Given the description of an element on the screen output the (x, y) to click on. 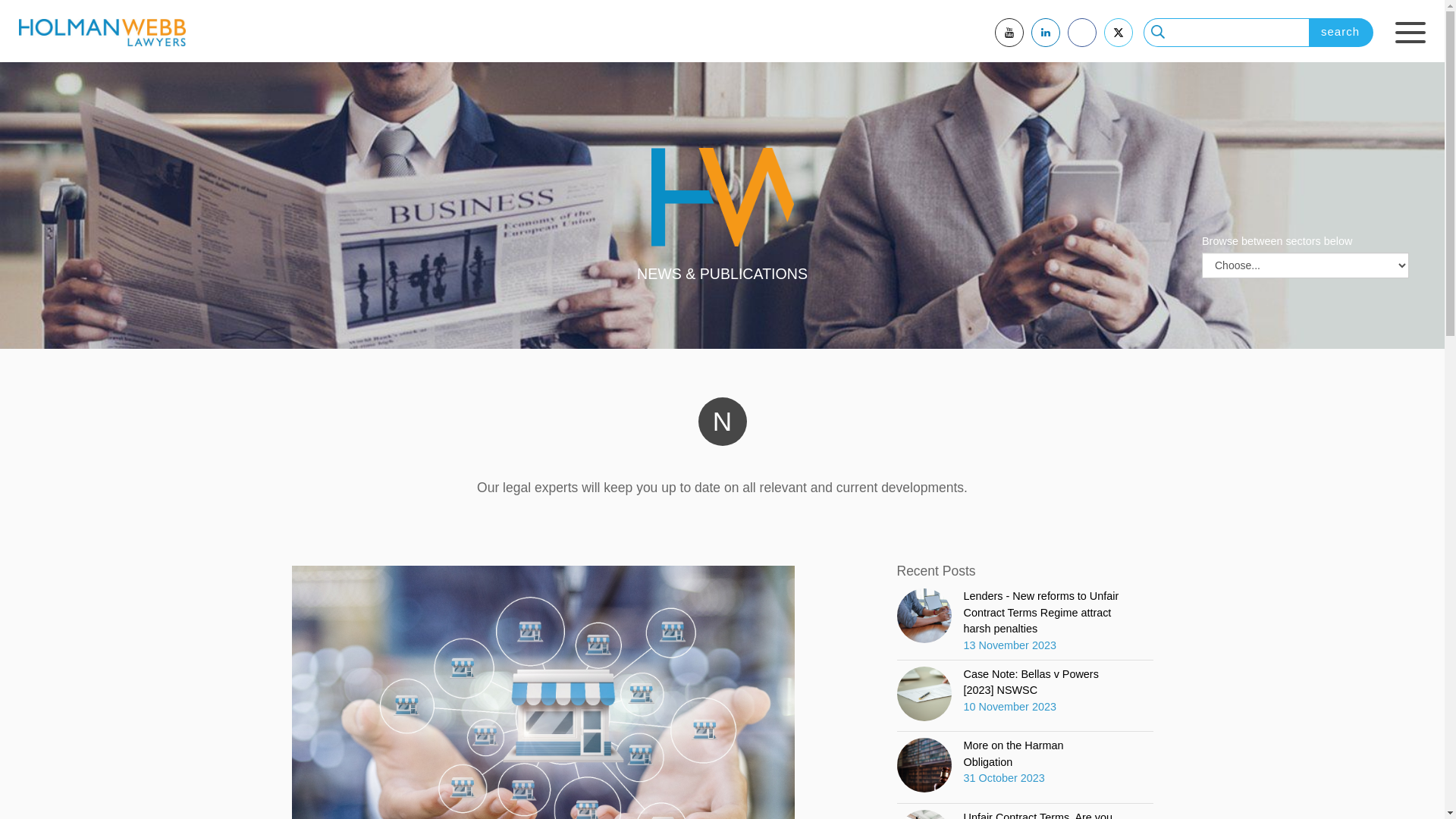
Holman Webb Lawyers Element type: hover (101, 32)
search Element type: text (1340, 32)
main-menu-hamburger Element type: hover (1410, 32)
Case Note: Bellas v Powers [2023] NSWSC
10 November 2023 Element type: text (1024, 693)
More on the Harman Obligation
31 October 2023 Element type: text (1011, 764)
HW_Colour.png Element type: hover (721, 197)
